Given the description of an element on the screen output the (x, y) to click on. 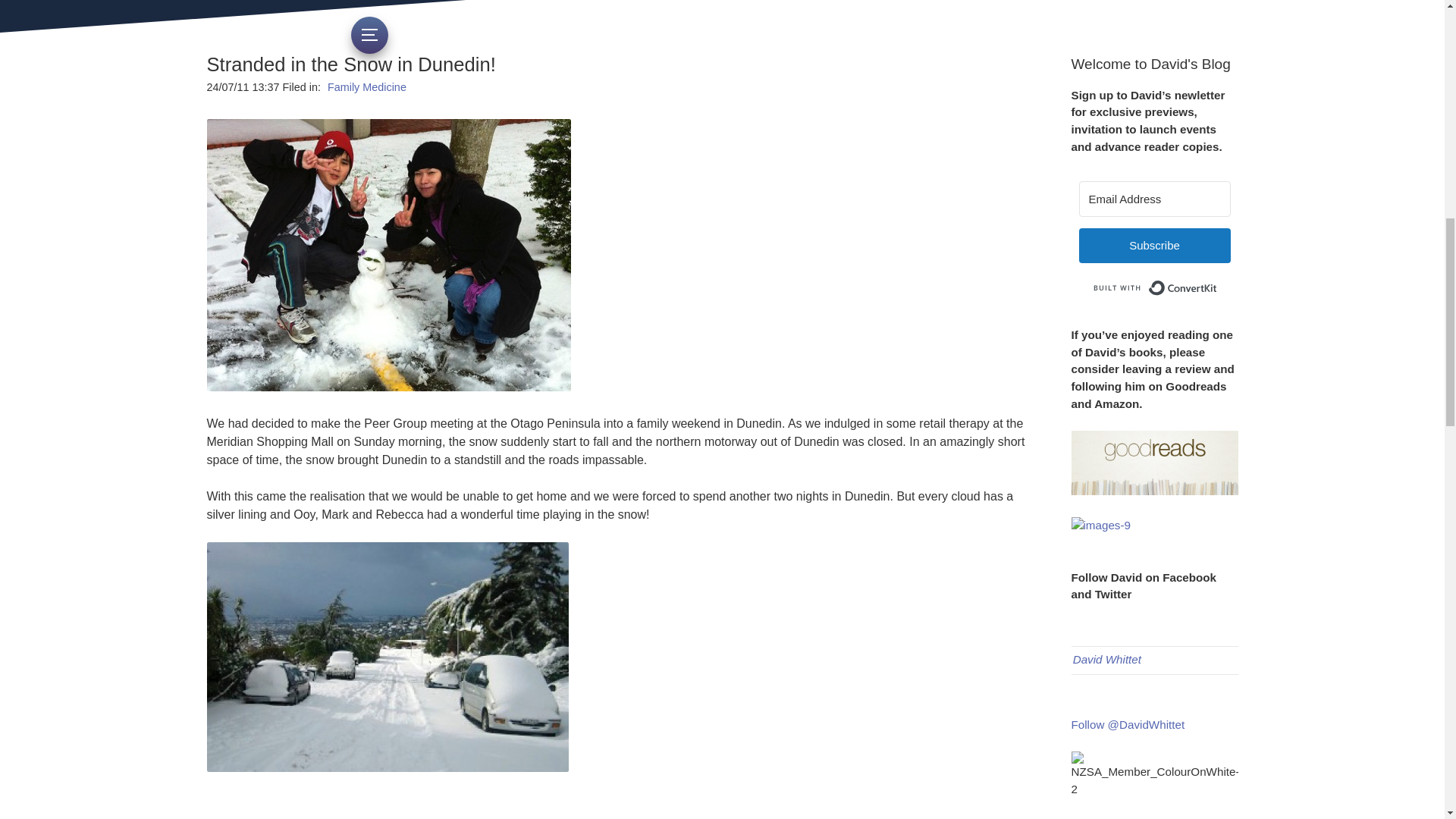
Family Medicine (366, 87)
Subscribe (1154, 245)
David Whittet (1107, 658)
Built with ConvertKit (1154, 288)
